Given the description of an element on the screen output the (x, y) to click on. 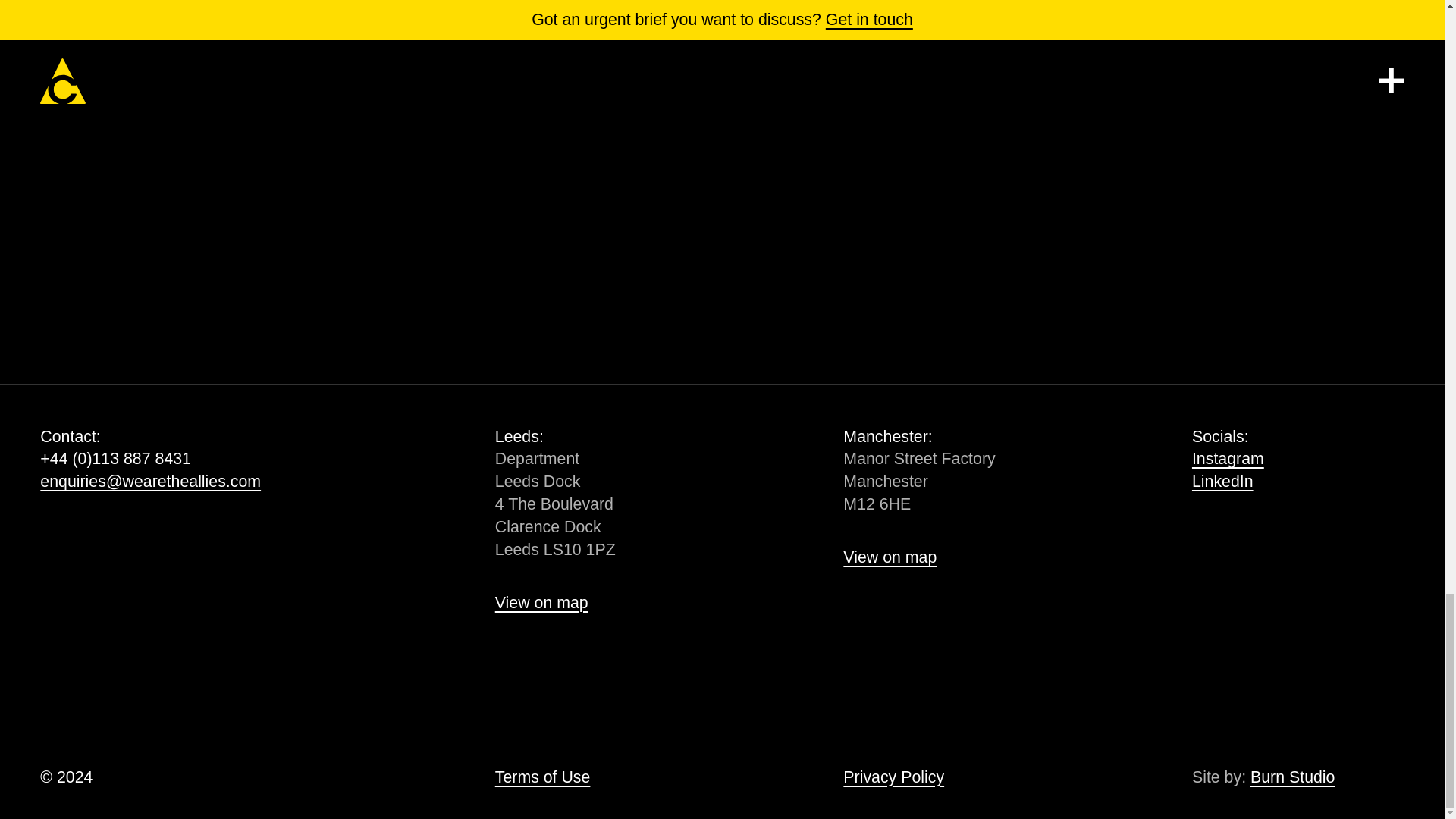
LinkedIn (1222, 481)
Instagram (1227, 458)
Privacy Policy (893, 777)
View on map (541, 602)
View on map (889, 556)
Terms of Use (543, 777)
Burn Studio (1292, 777)
